Given the description of an element on the screen output the (x, y) to click on. 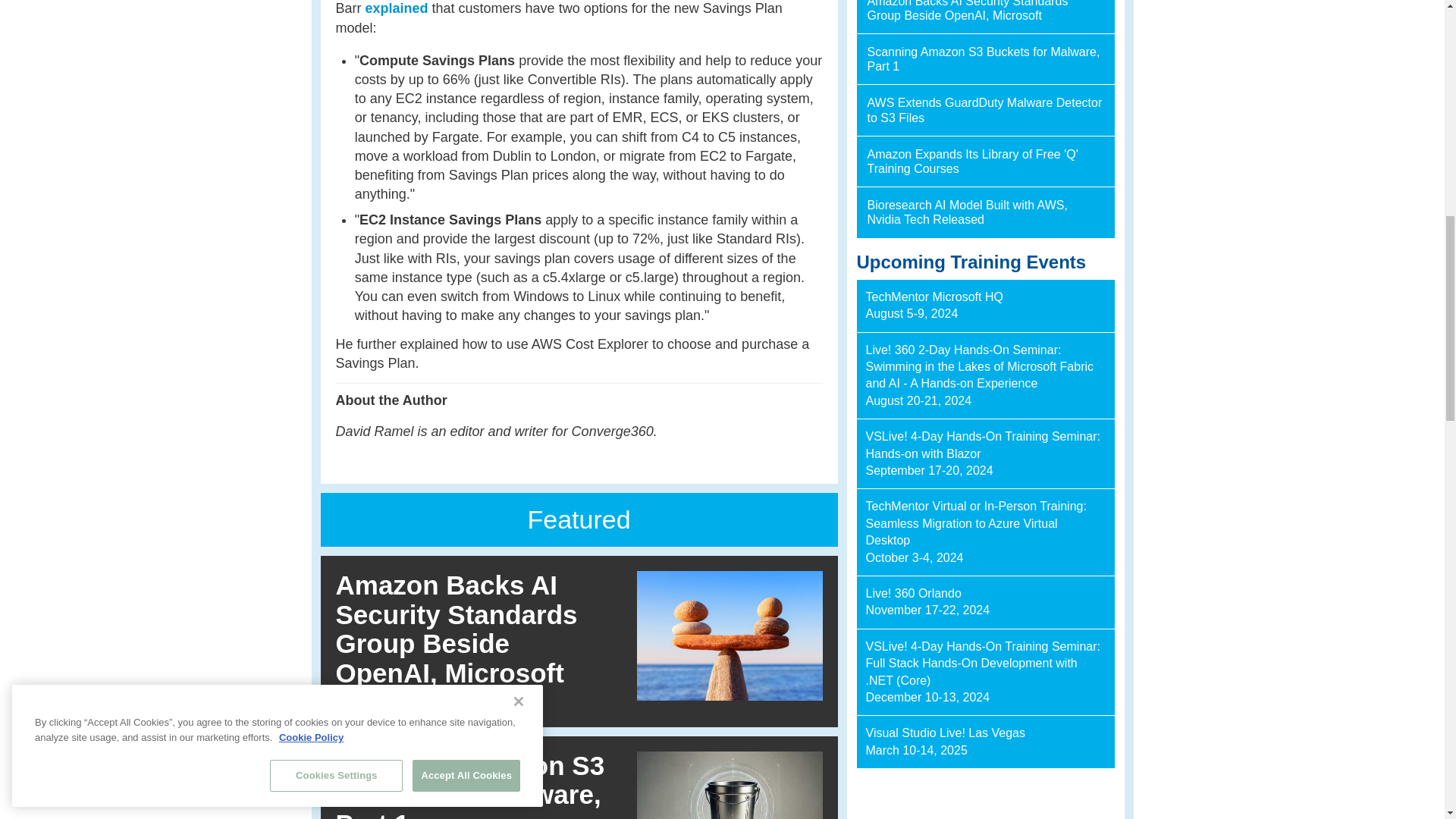
3rd party ad content (985, 800)
Scanning Amazon S3 Buckets for Malware, Part 1 (469, 785)
explained (396, 7)
